Given the description of an element on the screen output the (x, y) to click on. 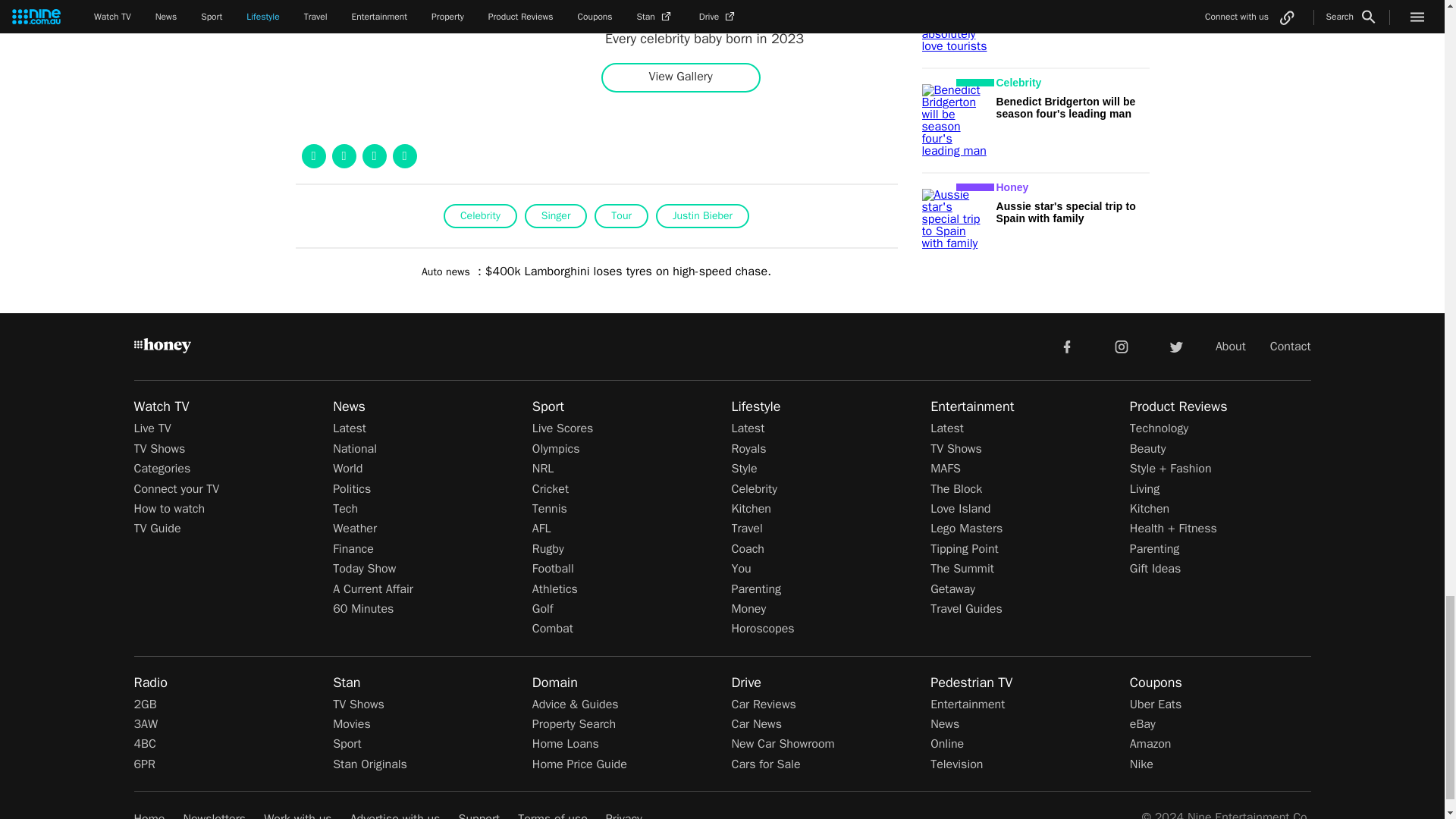
twitter (1175, 345)
facebook (1066, 345)
instagram (1121, 345)
